Given the description of an element on the screen output the (x, y) to click on. 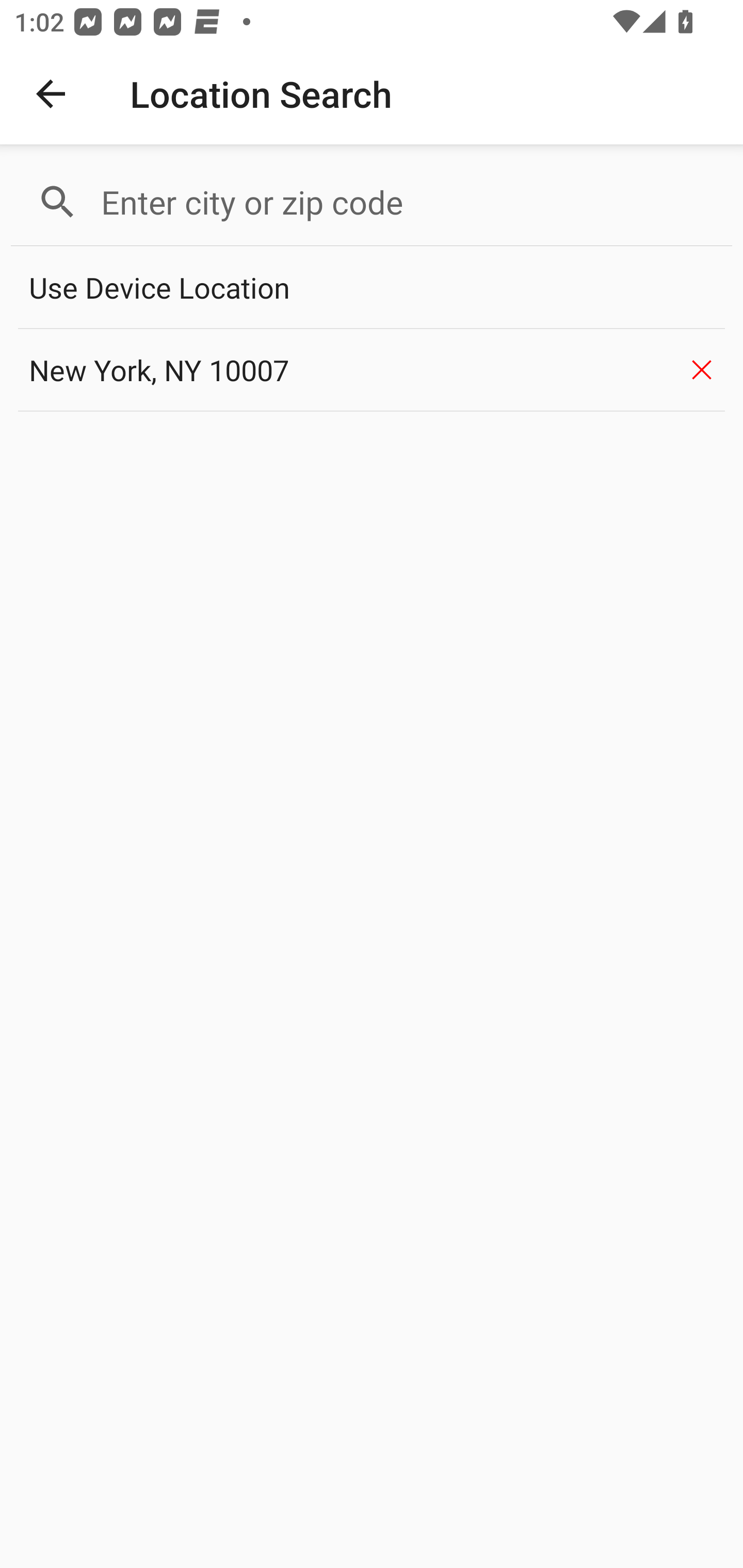
Navigate up (50, 93)
Enter city or zip code (407, 202)
Use Device Location (371, 287)
